Given the description of an element on the screen output the (x, y) to click on. 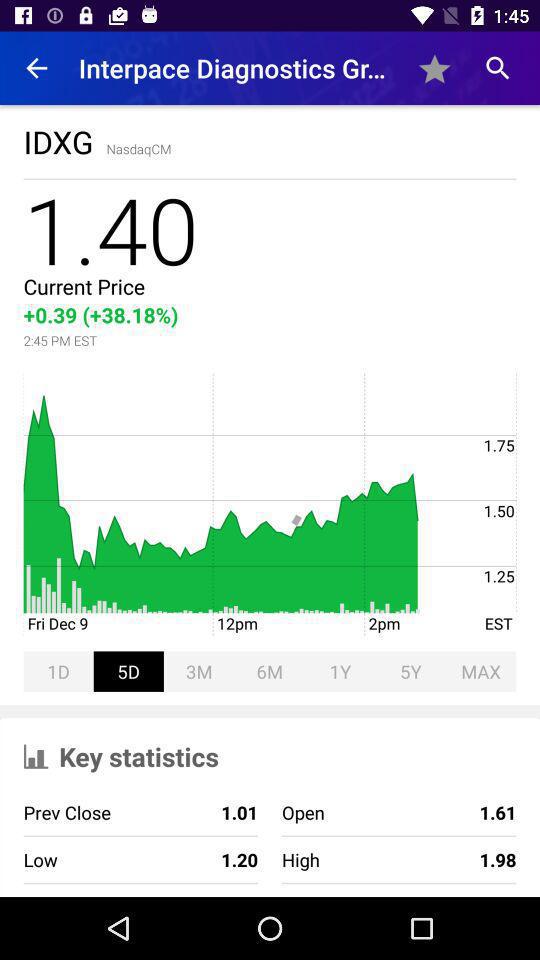
tap on the box that has 5y mentioned inside it which is below 2pm (410, 671)
